Given the description of an element on the screen output the (x, y) to click on. 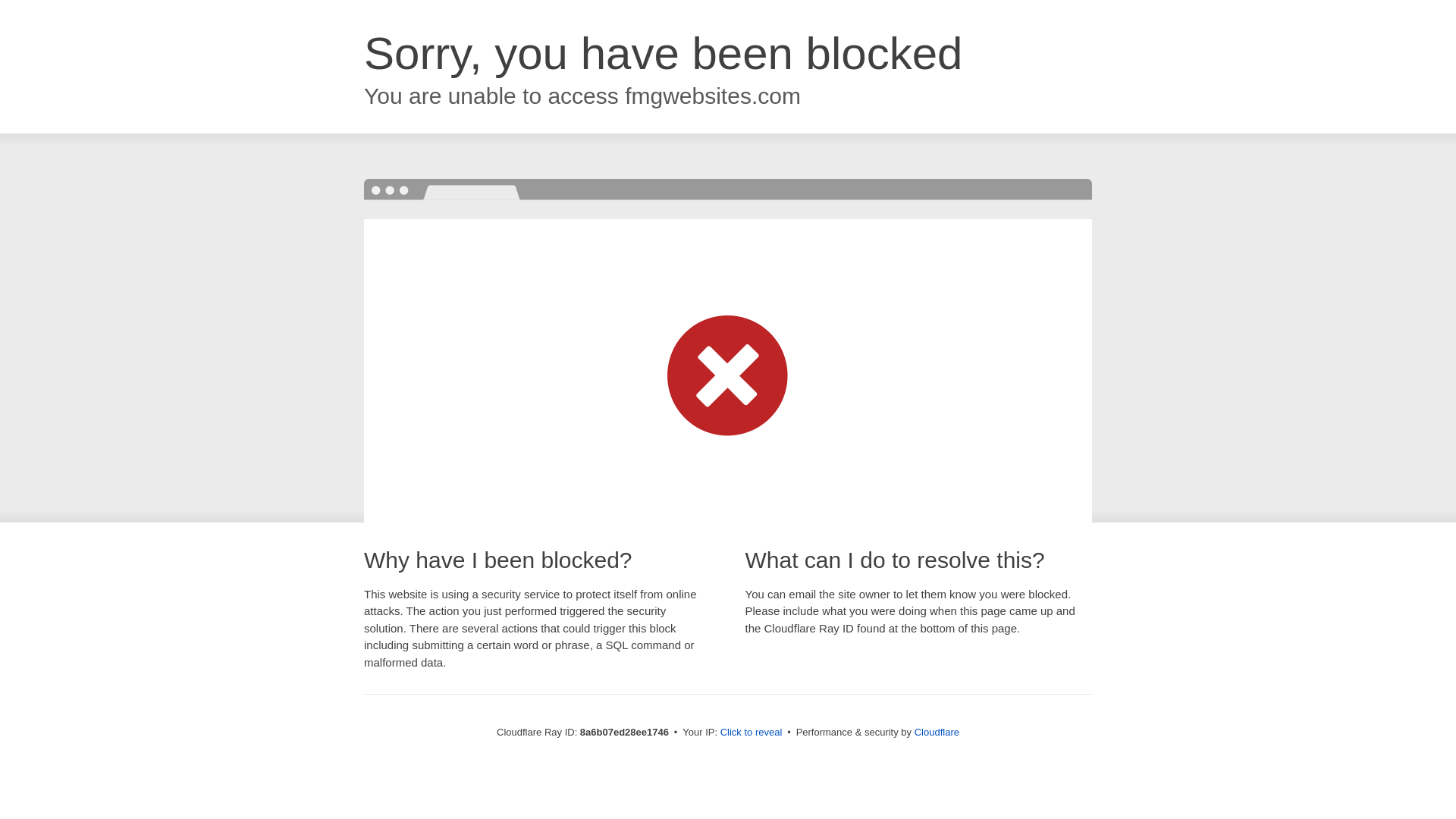
Cloudflare (936, 731)
Click to reveal (751, 732)
